Given the description of an element on the screen output the (x, y) to click on. 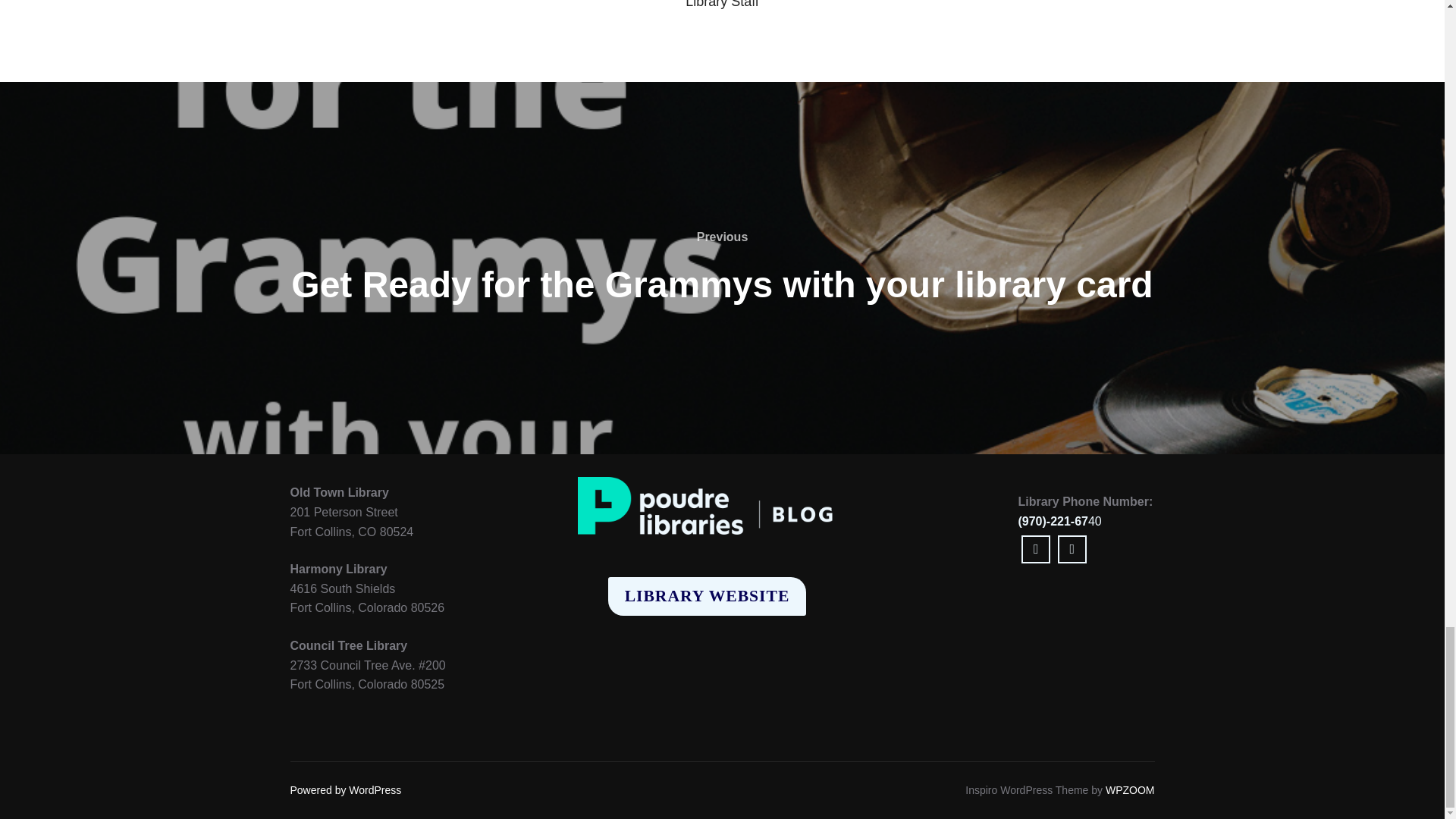
Posts by Library Staff (721, 4)
Instagram (1072, 549)
Facebook (1035, 549)
Library Staff (721, 4)
